Given the description of an element on the screen output the (x, y) to click on. 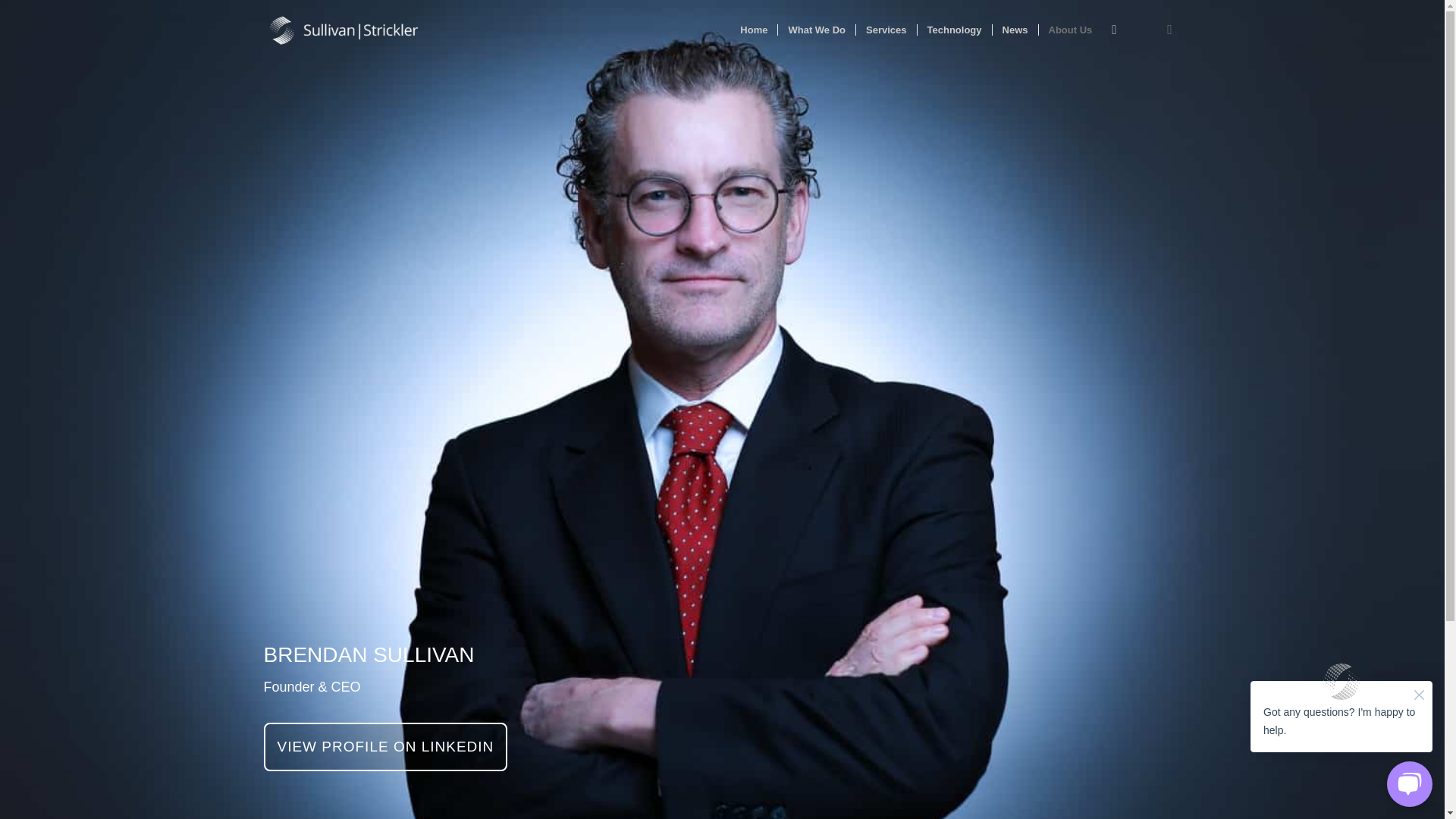
Technology (954, 30)
VIEW PROFILE ON LINKEDIN (385, 746)
Services (886, 30)
About Us (1069, 30)
What We Do (816, 30)
